Given the description of an element on the screen output the (x, y) to click on. 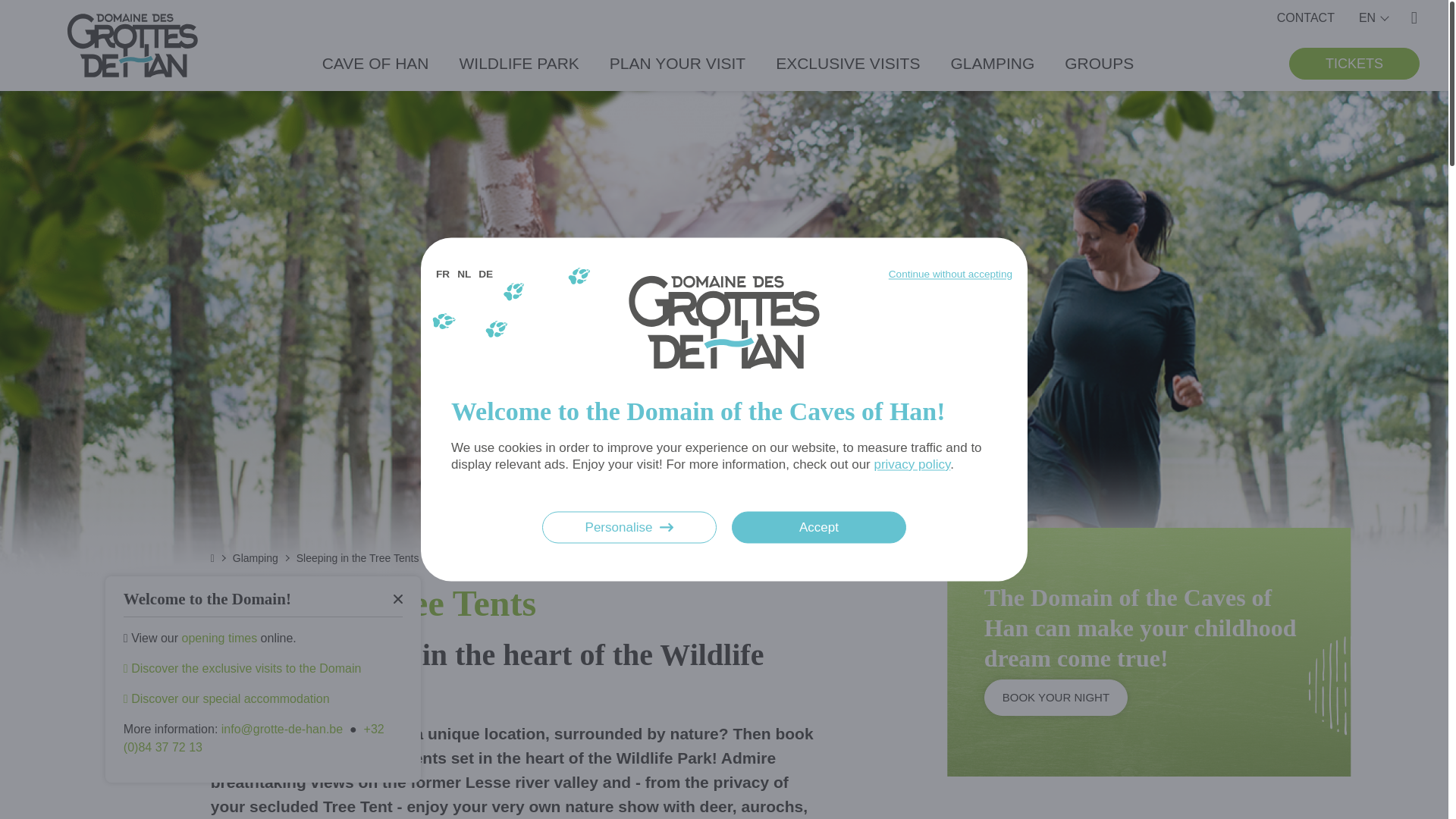
WILDLIFE PARK (519, 63)
PLAN YOUR VISIT (677, 63)
fr (442, 273)
nl (463, 273)
de (486, 273)
CAVE OF HAN (375, 63)
